Given the description of an element on the screen output the (x, y) to click on. 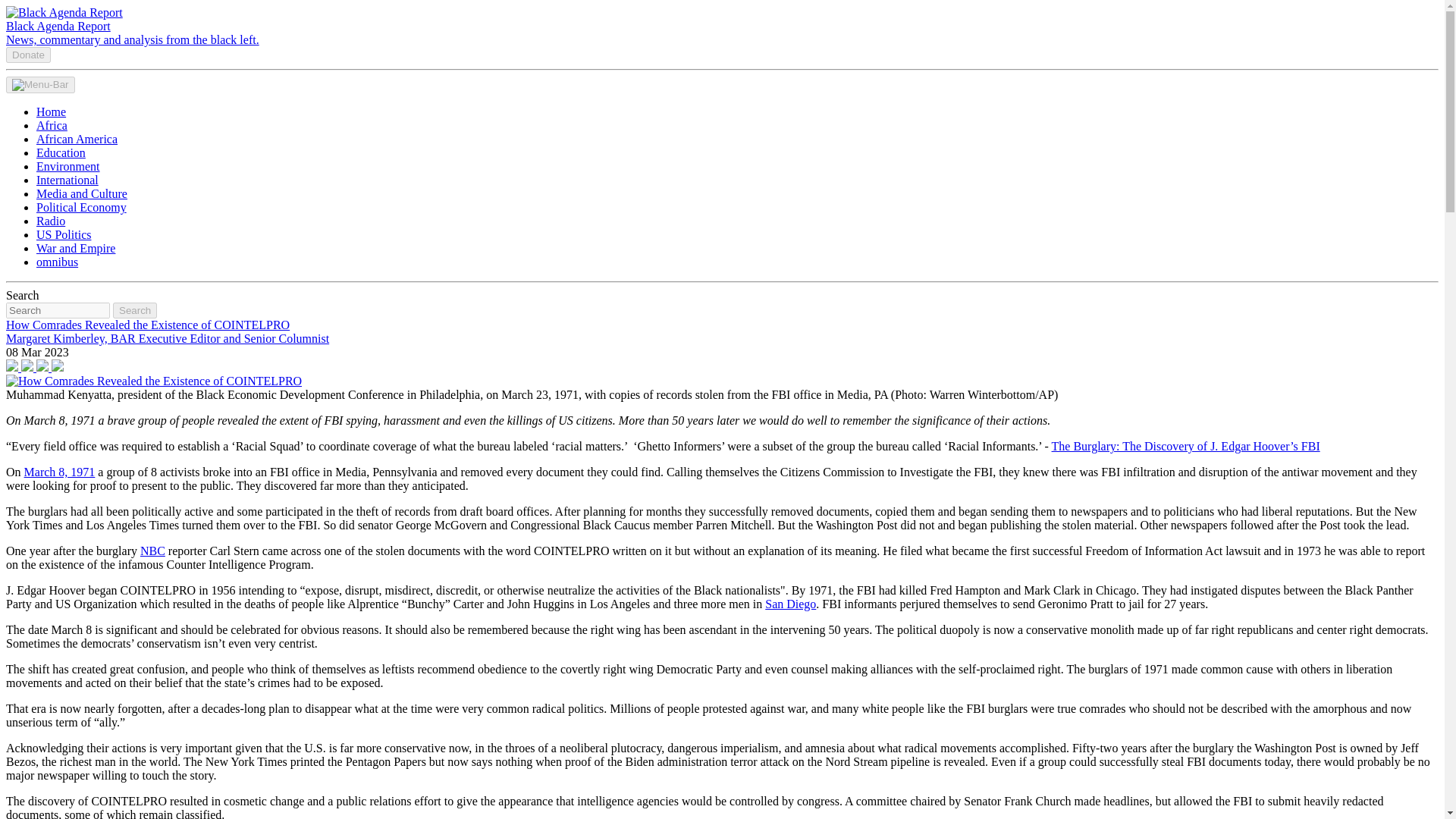
San Diego (790, 603)
Radio (50, 220)
Search (135, 310)
Media and Culture (82, 193)
Education (60, 152)
War and Empire (75, 247)
How Comrades Revealed the Existence of COINTELPRO (153, 380)
Home (50, 111)
omnibus (57, 261)
International (67, 179)
NBC (152, 550)
Environment (68, 165)
Donate (27, 54)
March 8, 1971 (60, 472)
